Given the description of an element on the screen output the (x, y) to click on. 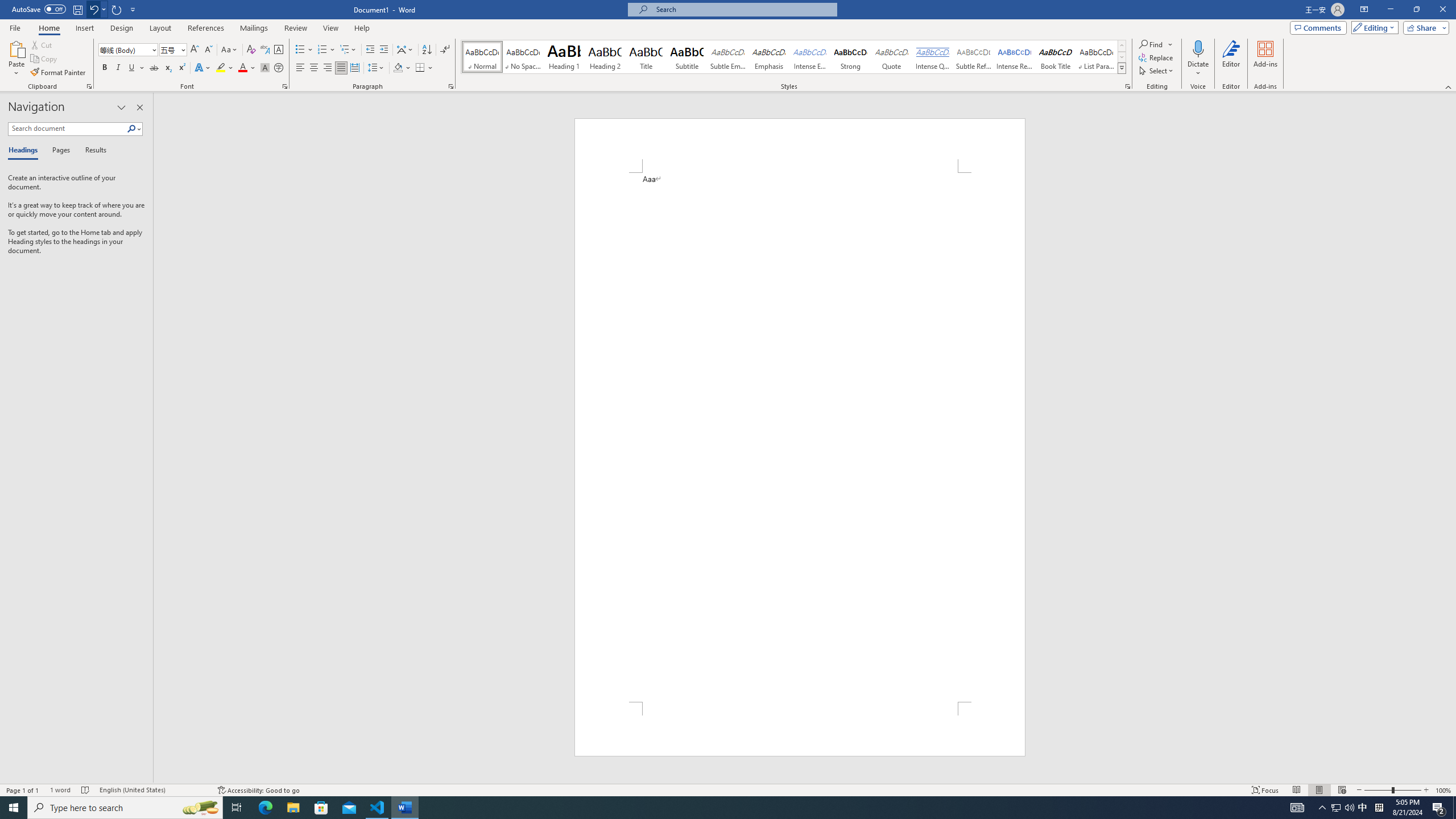
Spelling and Grammar Check No Errors (85, 790)
